Given the description of an element on the screen output the (x, y) to click on. 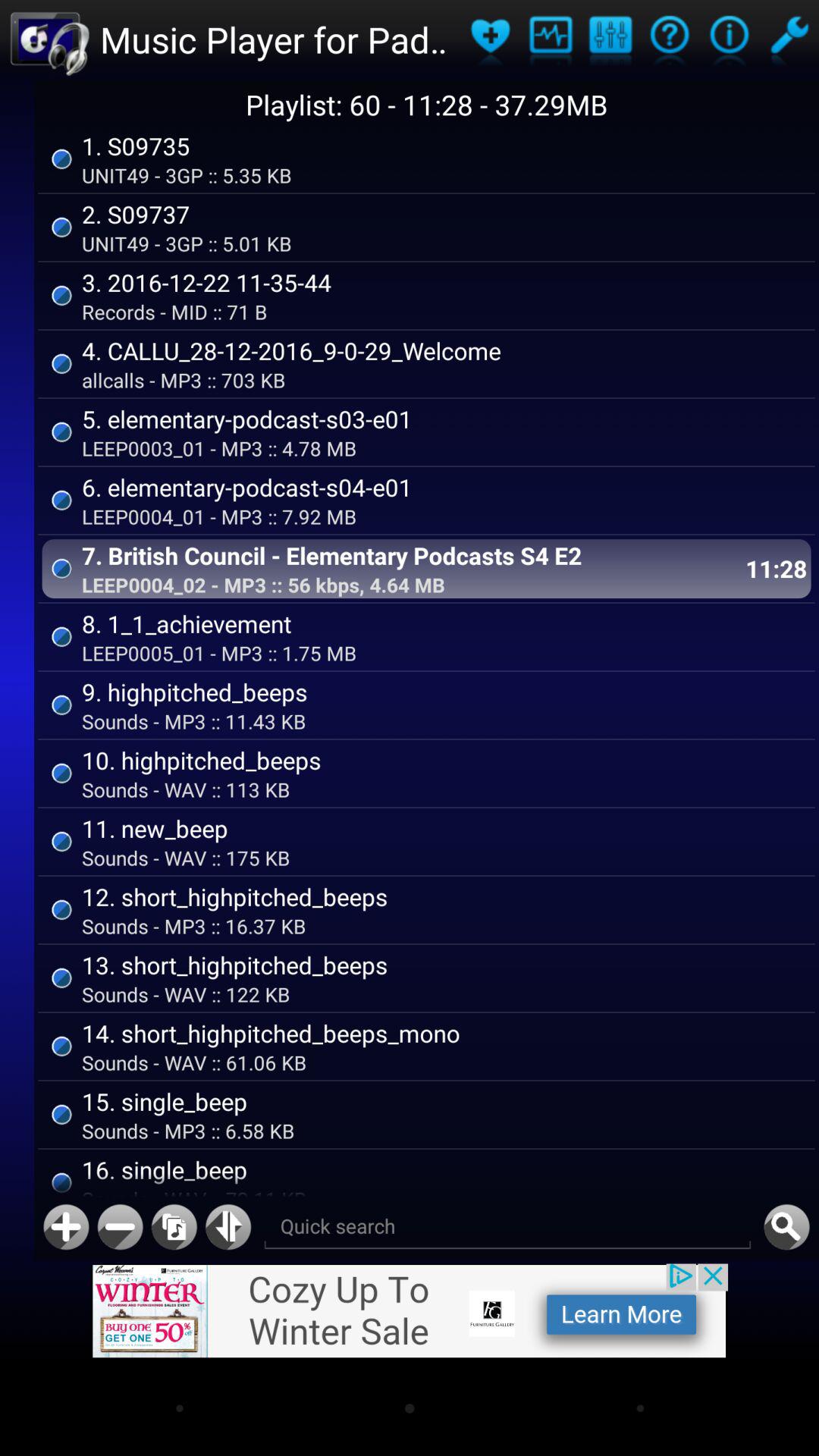
open about page (669, 39)
